Given the description of an element on the screen output the (x, y) to click on. 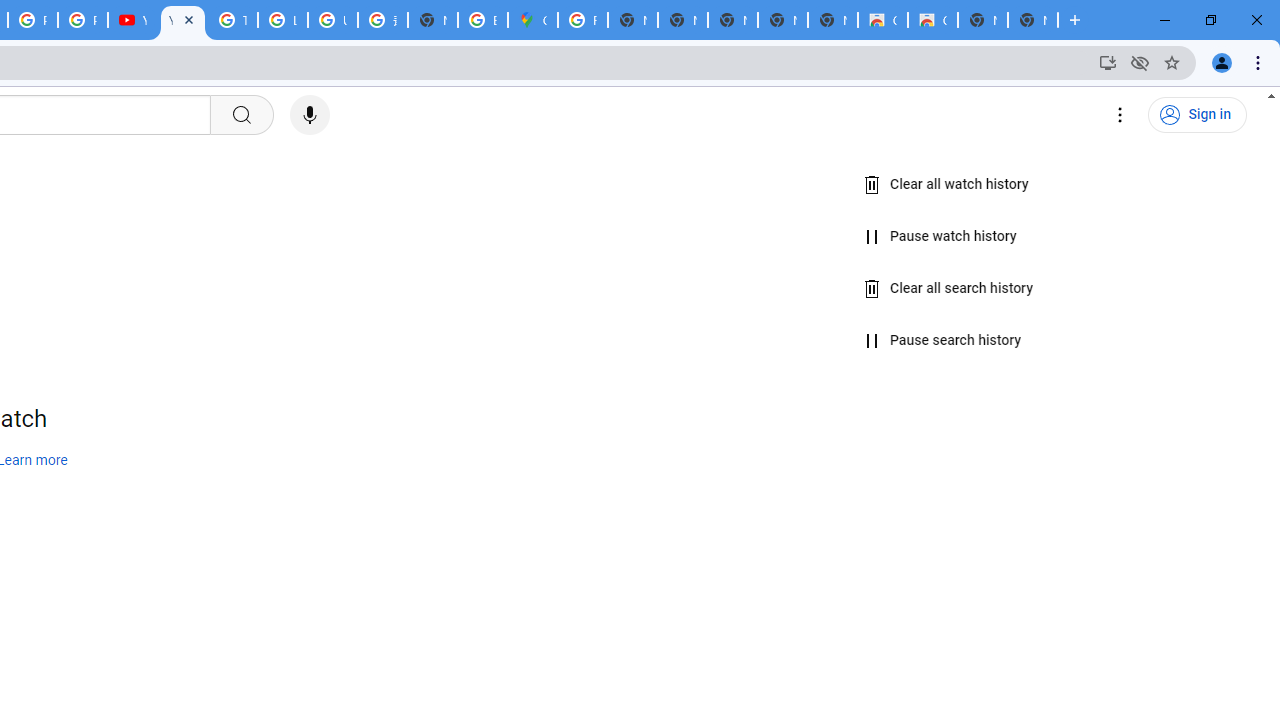
Search with your voice (309, 115)
YouTube (132, 20)
Classic Blue - Chrome Web Store (882, 20)
Tips & tricks for Chrome - Google Chrome Help (232, 20)
Explore new street-level details - Google Maps Help (483, 20)
New Tab (433, 20)
Classic Blue - Chrome Web Store (932, 20)
